Given the description of an element on the screen output the (x, y) to click on. 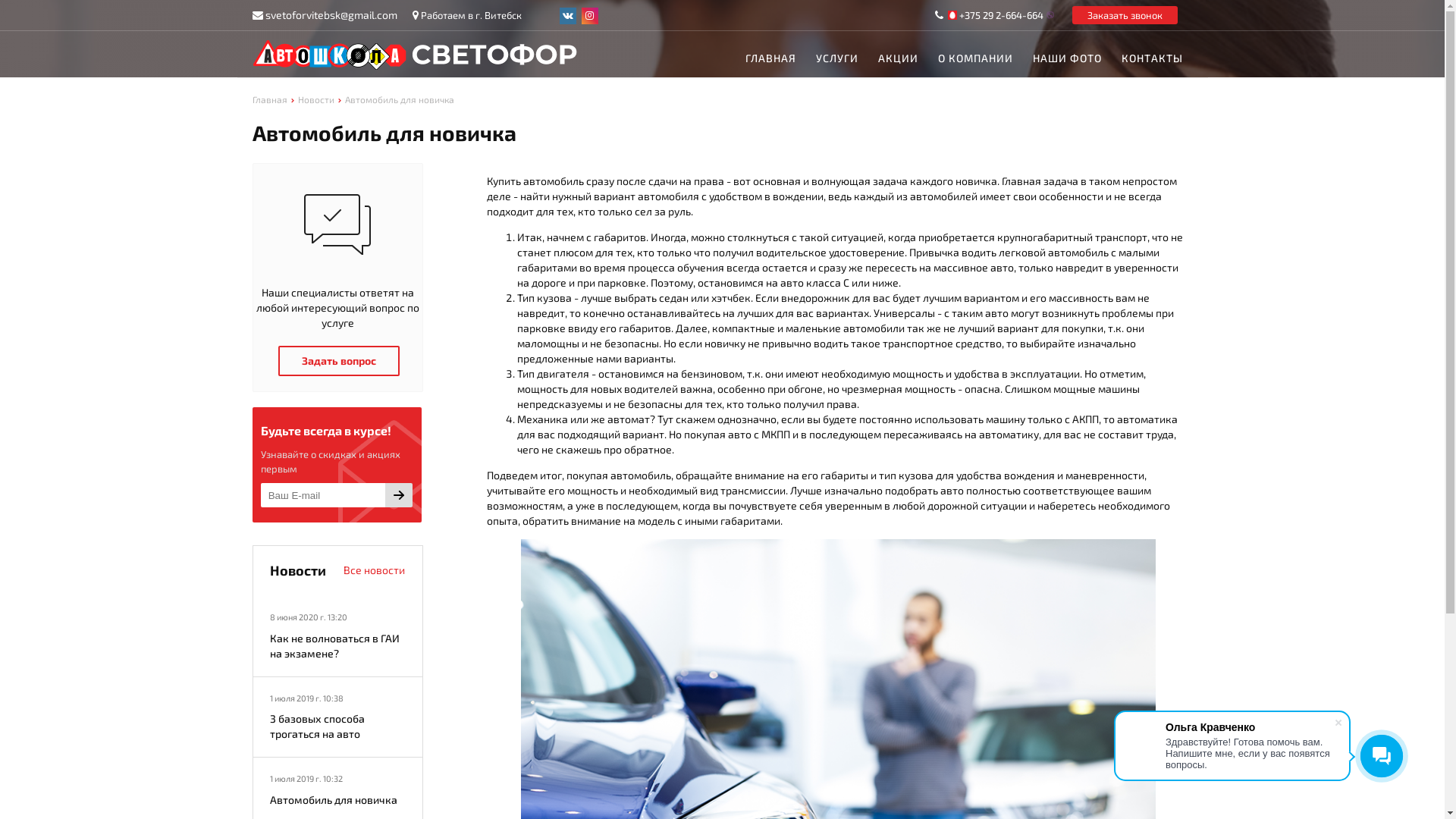
svetoforvitebsk@gmail.com Element type: text (331, 14)
+375 29 2-664-664 Element type: text (1000, 15)
